Given the description of an element on the screen output the (x, y) to click on. 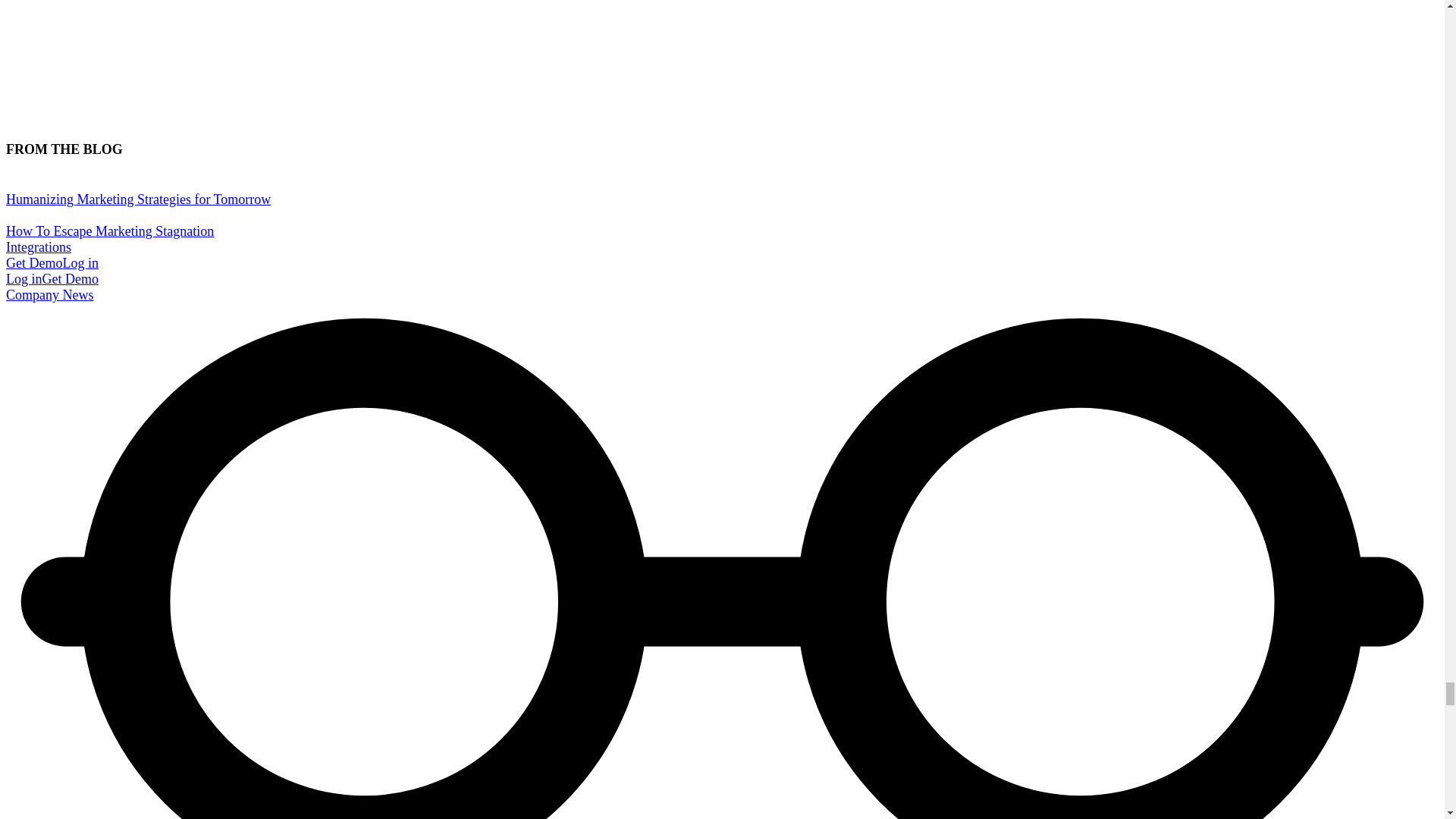
Integrations (38, 246)
Get Demo (33, 263)
